Given the description of an element on the screen output the (x, y) to click on. 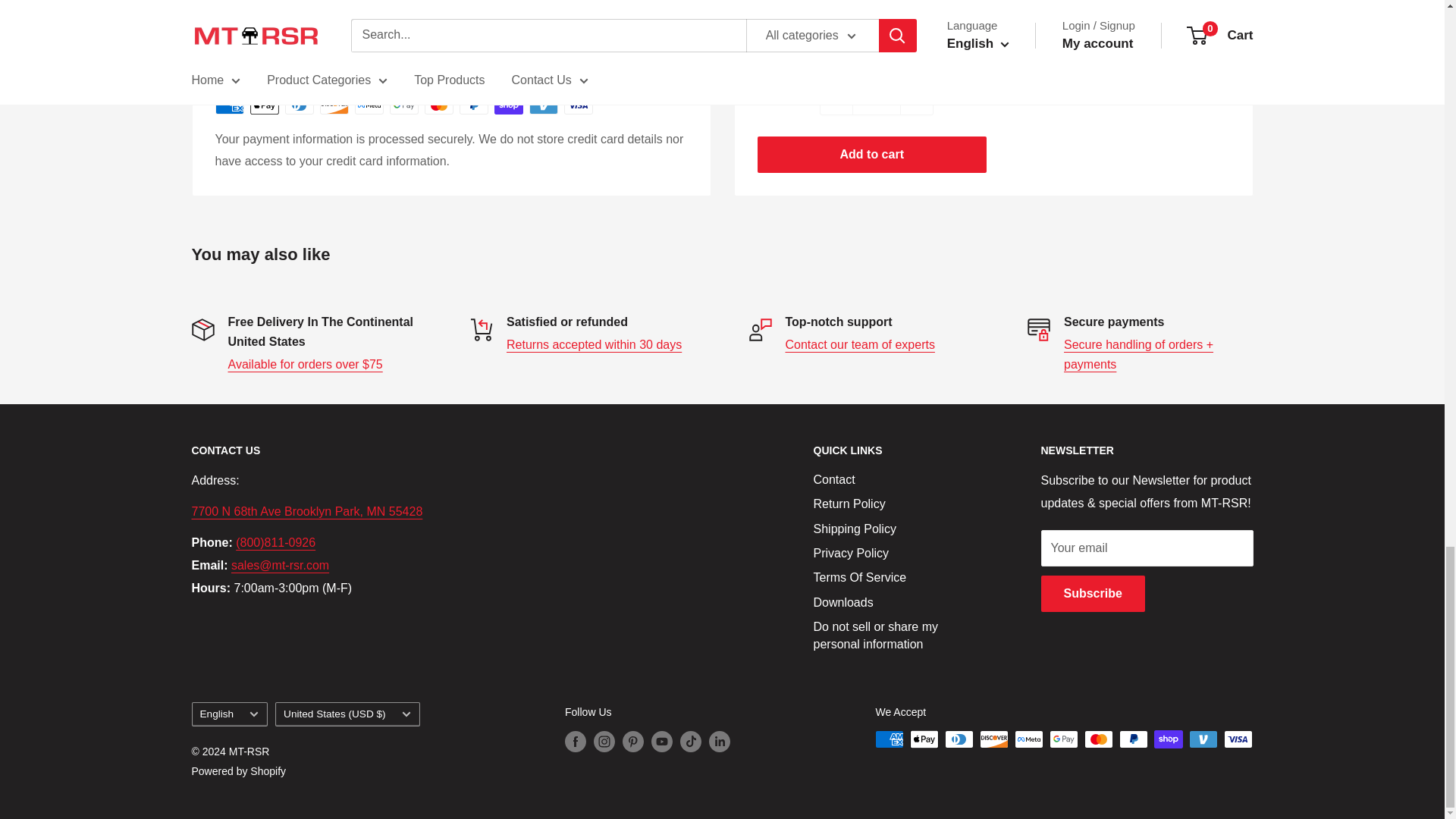
Return Policy (593, 344)
Shipping Policy (304, 364)
Contact (860, 344)
7700 N 68th Ave Brooklyn Park, MN 55428 (306, 511)
Privacy Policy (1138, 354)
